Given the description of an element on the screen output the (x, y) to click on. 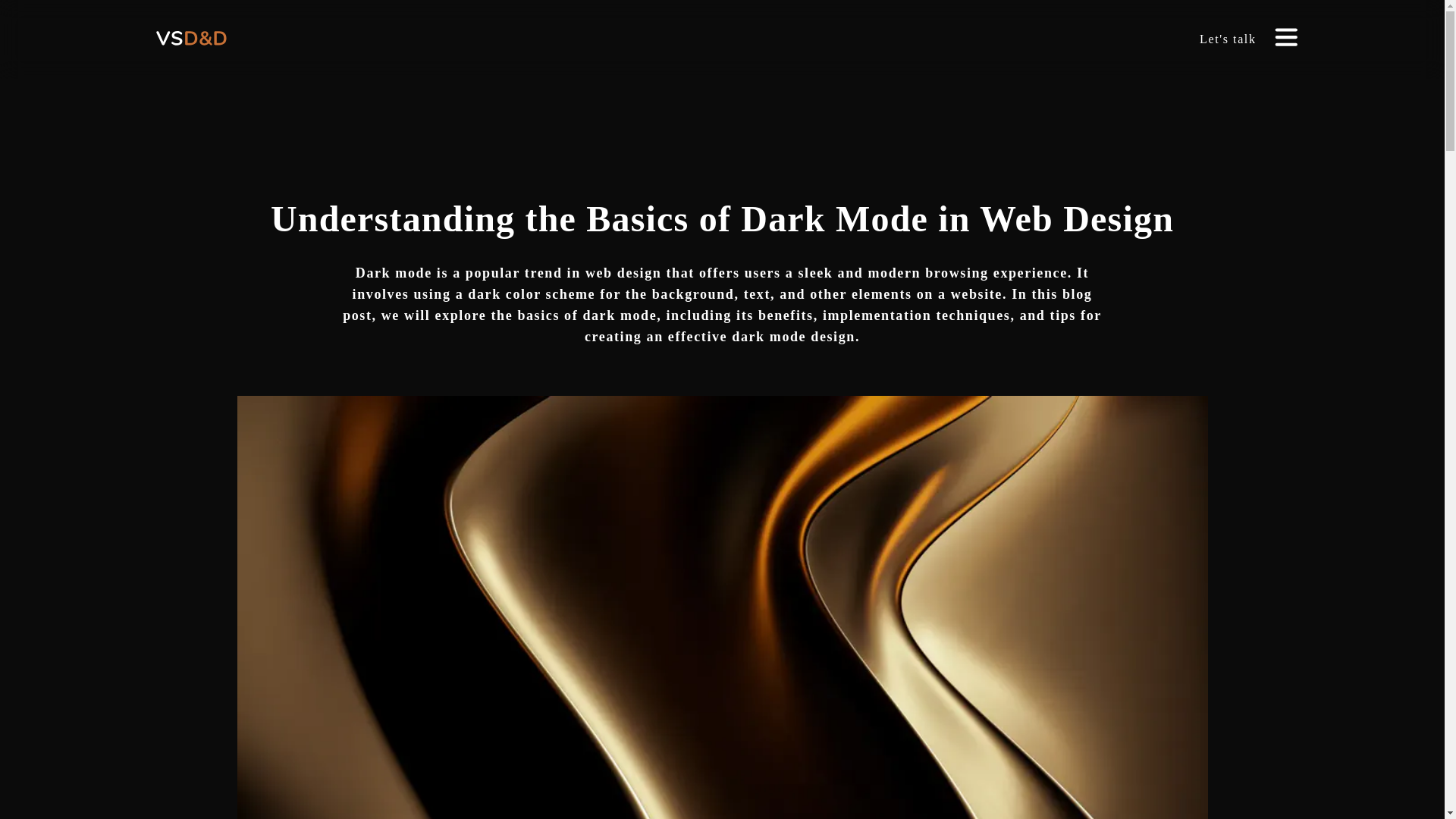
Let's talk (1227, 38)
